Given the description of an element on the screen output the (x, y) to click on. 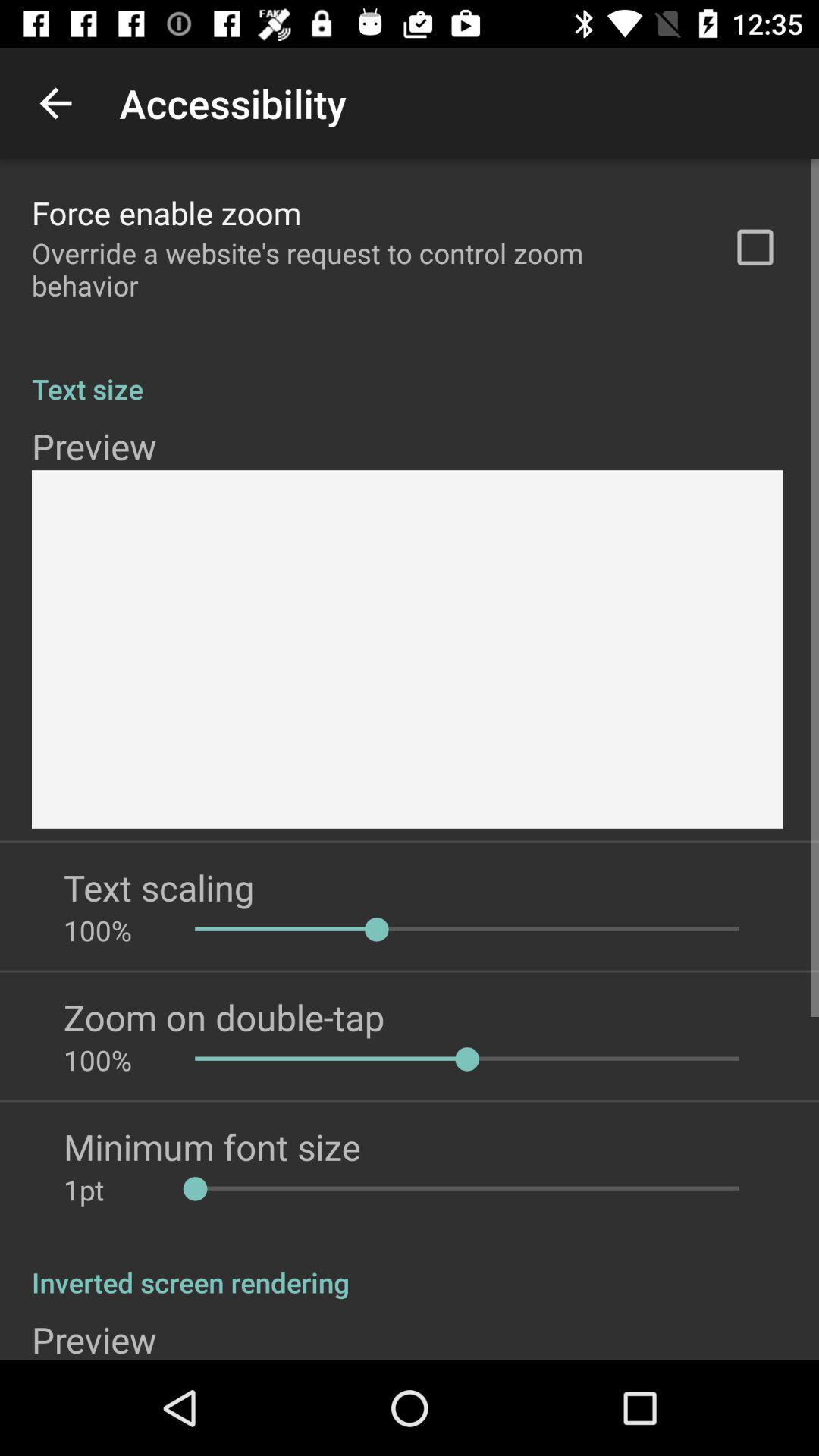
click the app to the right of override a website icon (755, 247)
